Given the description of an element on the screen output the (x, y) to click on. 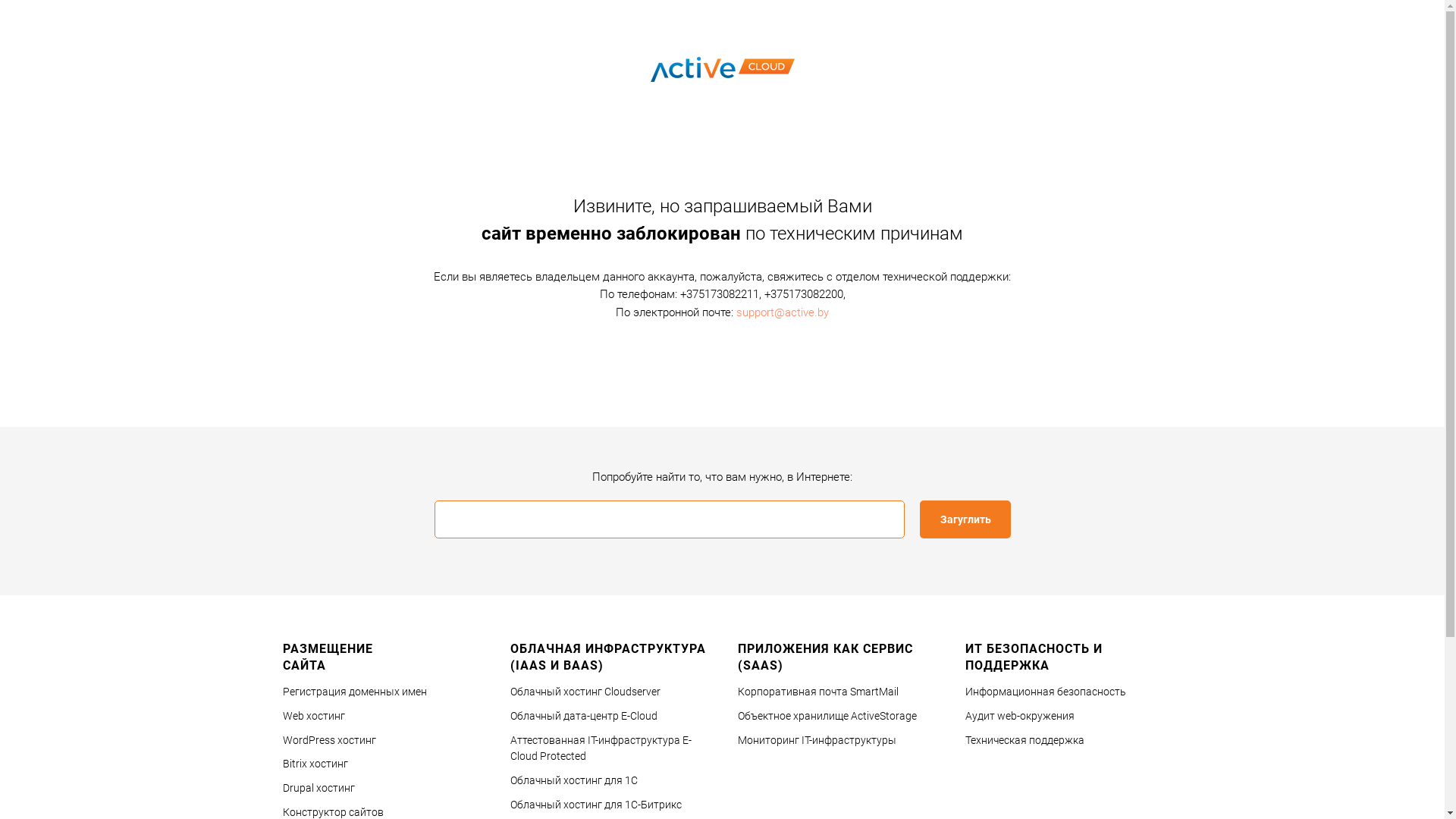
+375173082200 Element type: text (803, 294)
+375173082211 Element type: text (718, 294)
support@active.by Element type: text (782, 311)
